Given the description of an element on the screen output the (x, y) to click on. 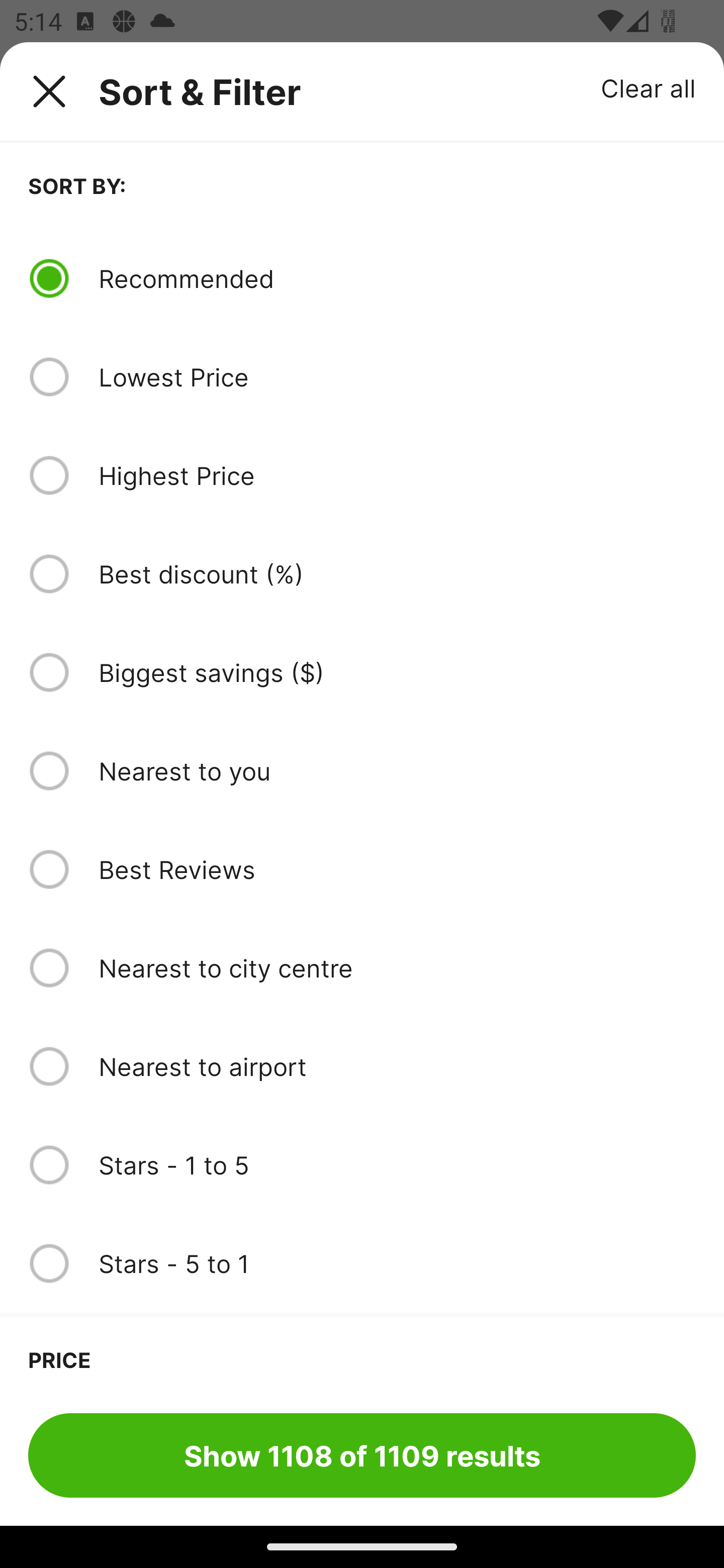
Clear all (648, 87)
Recommended  (396, 278)
Lowest Price (396, 377)
Highest Price (396, 474)
Best discount (%) (396, 573)
Biggest savings ($) (396, 672)
Nearest to you (396, 770)
Best Reviews (396, 869)
Nearest to city centre (396, 968)
Nearest to airport (396, 1065)
Stars - 1 to 5 (396, 1164)
Stars - 5 to 1 (396, 1263)
Show 1108 of 1109 results (361, 1454)
